Given the description of an element on the screen output the (x, y) to click on. 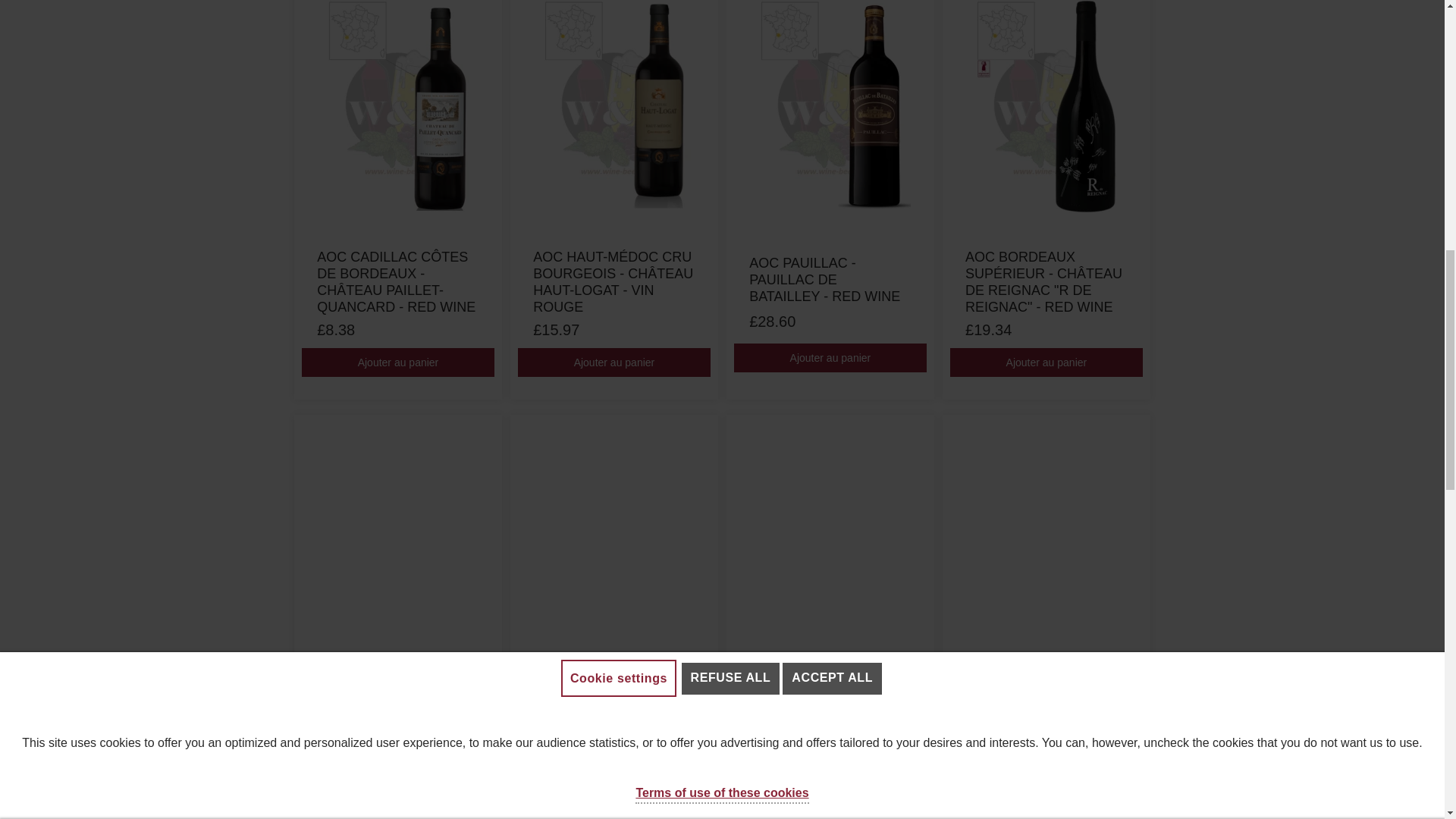
on (34, 267)
on (34, 196)
on (34, 125)
